Given the description of an element on the screen output the (x, y) to click on. 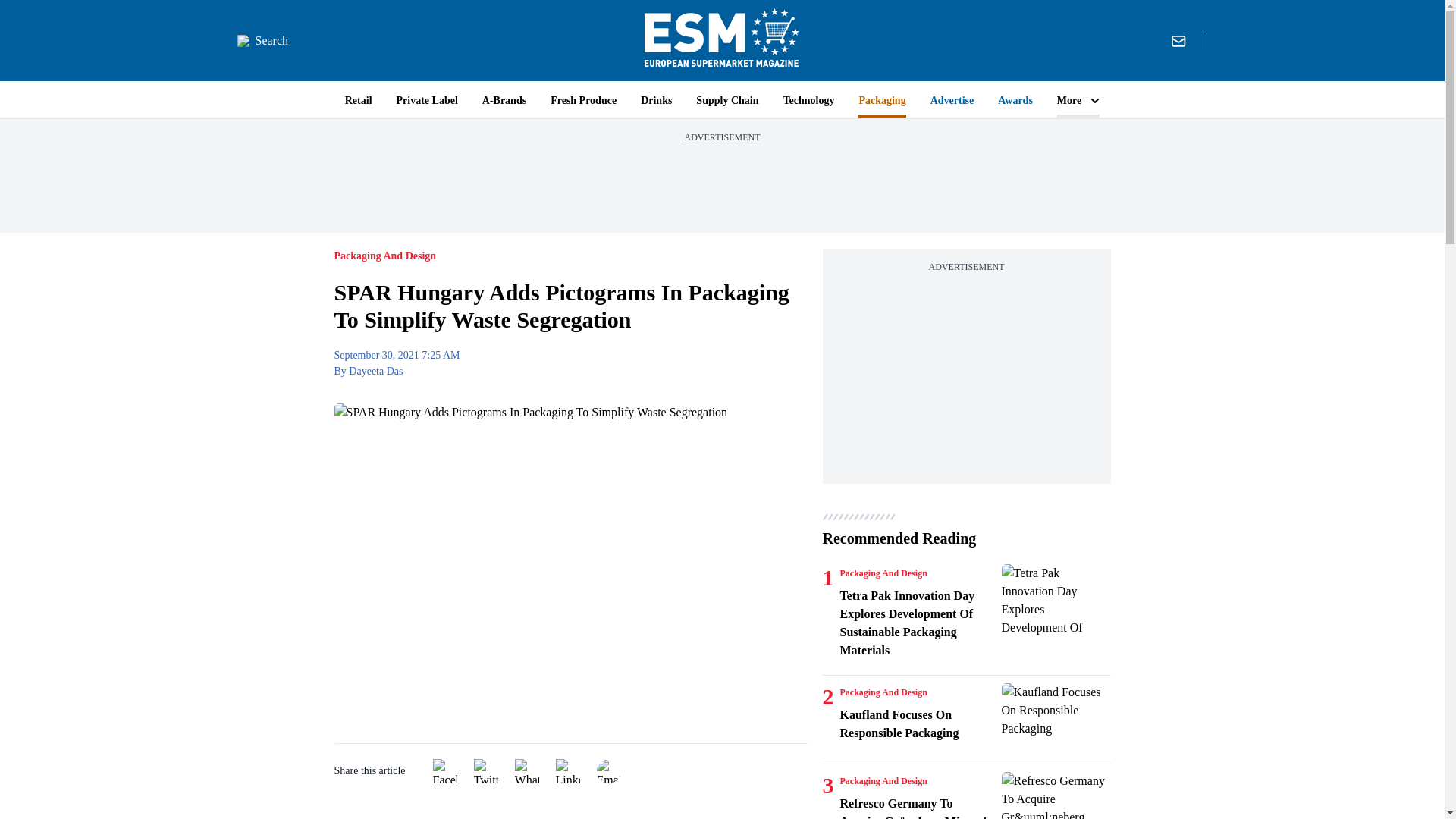
Kaufland Focuses On Responsible Packaging (917, 723)
Search (261, 40)
Packaging And Design (883, 573)
Packaging And Design (883, 780)
ESM (722, 40)
Packaging And Design (883, 692)
Kaufland Focuses On Responsible Packaging (1055, 719)
